Given the description of an element on the screen output the (x, y) to click on. 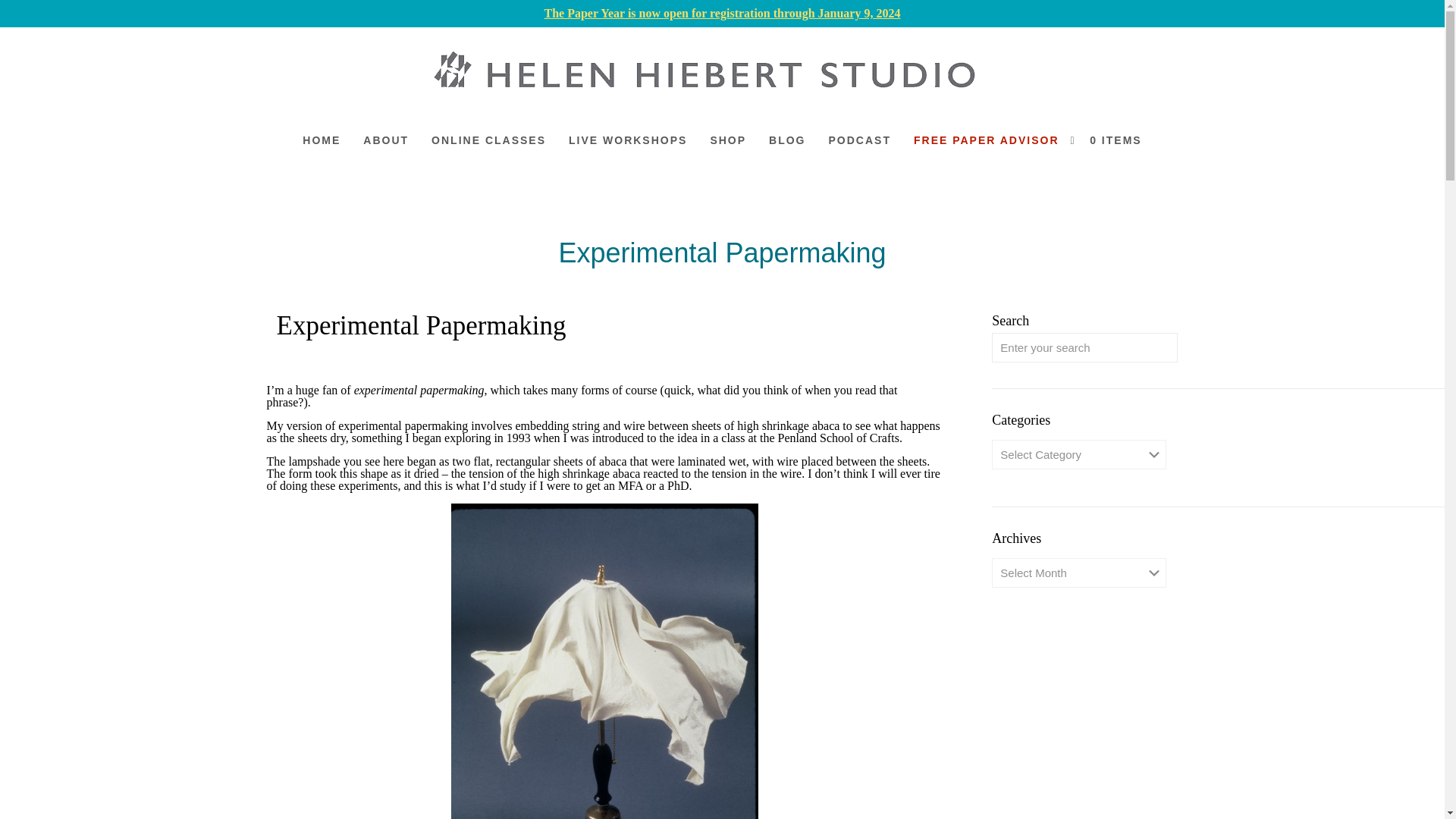
Start shopping (1111, 139)
SHOP (727, 139)
BLOG (786, 139)
Helen Hiebert Studio (710, 72)
PODCAST (859, 139)
0 ITEMS (1111, 139)
HOME (321, 139)
LIVE WORKSHOPS (627, 139)
ONLINE CLASSES (488, 139)
ABOUT (386, 139)
FREE PAPER ADVISOR (986, 139)
